Given the description of an element on the screen output the (x, y) to click on. 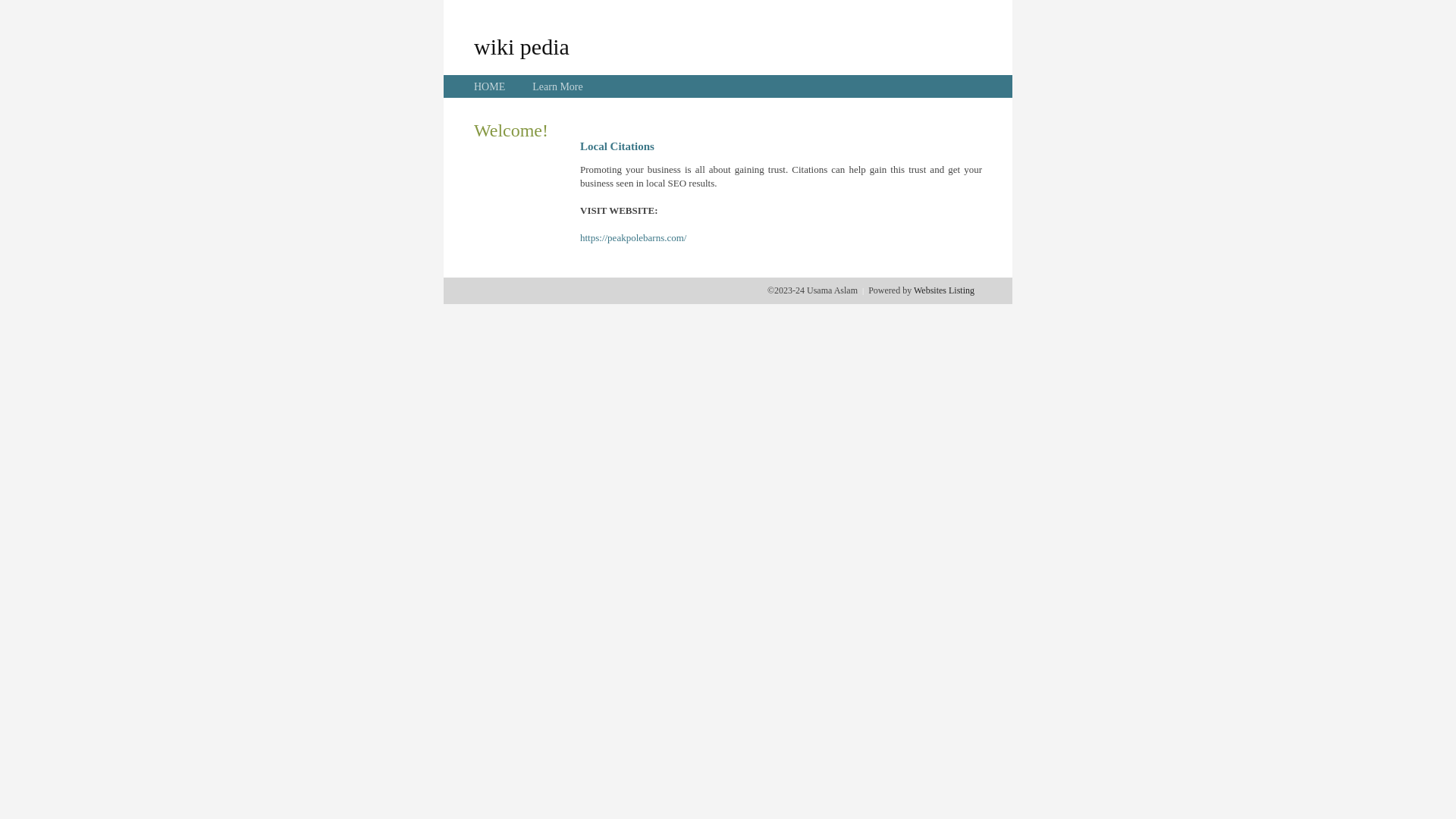
Learn More Element type: text (557, 86)
wiki pedia Element type: text (521, 46)
Websites Listing Element type: text (943, 290)
HOME Element type: text (489, 86)
https://peakpolebarns.com/ Element type: text (633, 237)
